Given the description of an element on the screen output the (x, y) to click on. 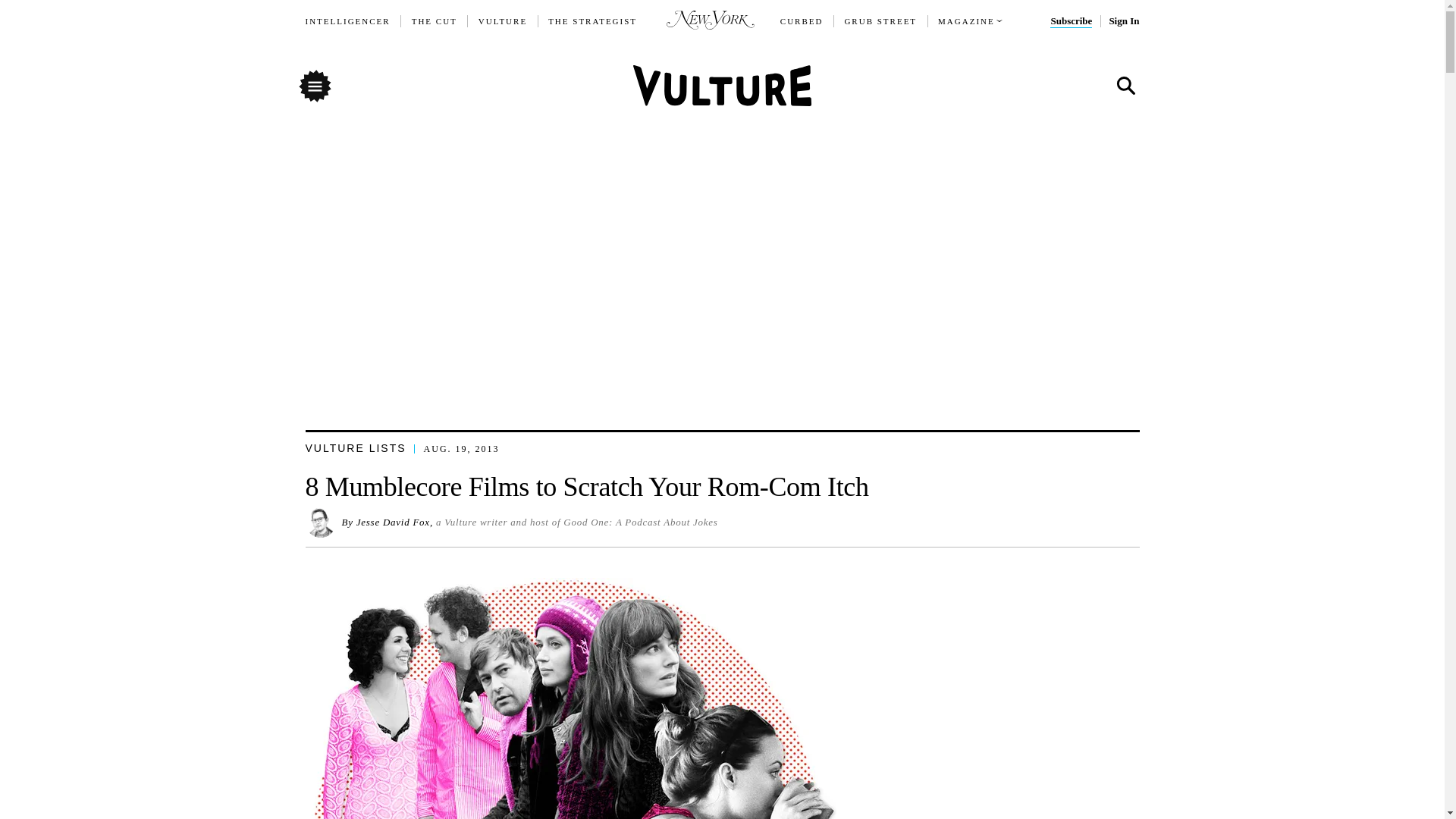
Search (1124, 86)
THE CUT (434, 21)
Subscribe (1070, 21)
VULTURE (503, 21)
Menu (314, 84)
INTELLIGENCER (347, 21)
THE STRATEGIST (592, 21)
GRUB STREET (880, 21)
Sign In (1123, 21)
CURBED (802, 21)
MAGAZINE (965, 21)
